Given the description of an element on the screen output the (x, y) to click on. 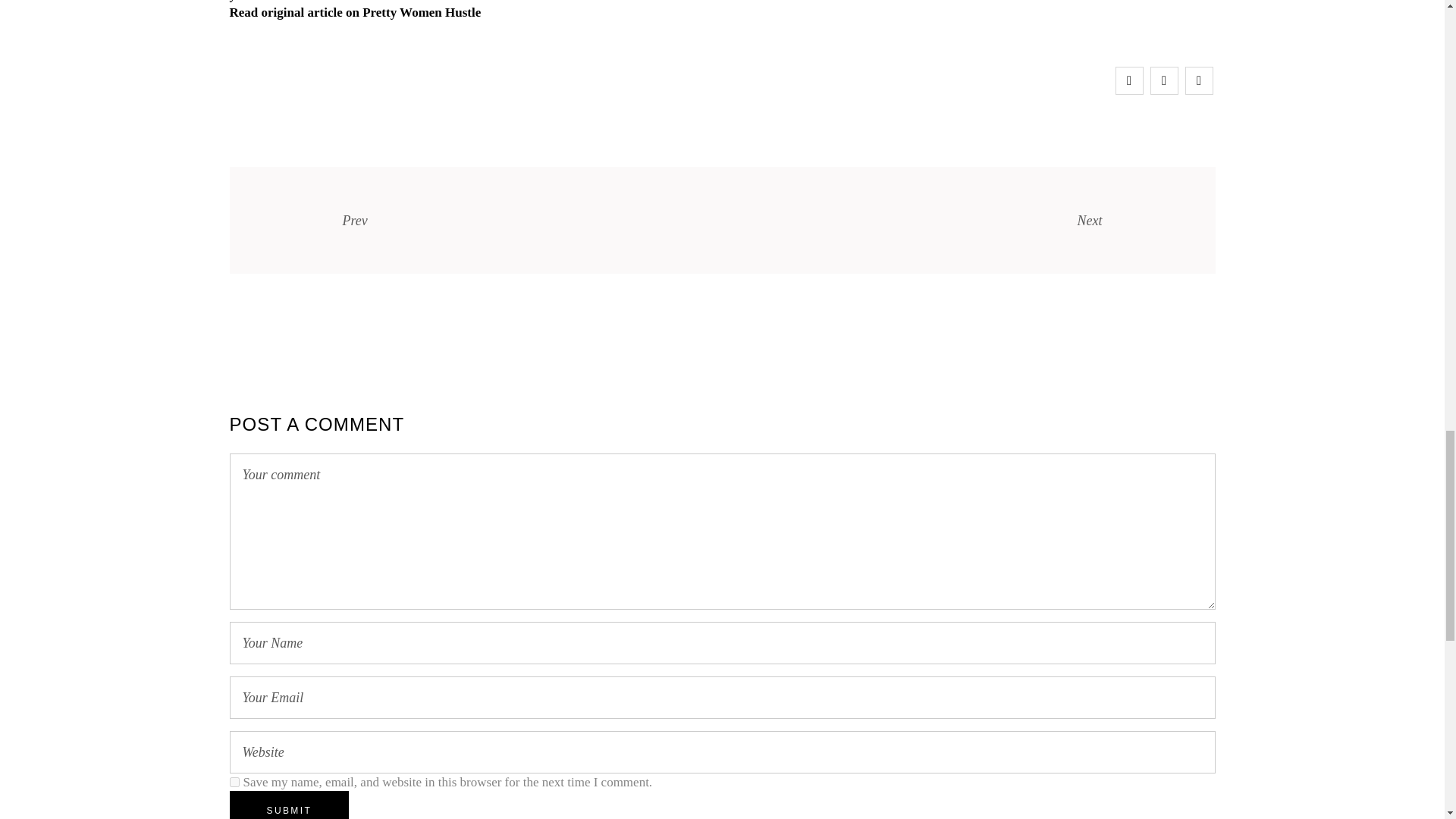
yes (233, 782)
Pretty Women Hustle (421, 11)
Read original article on (293, 11)
